Given the description of an element on the screen output the (x, y) to click on. 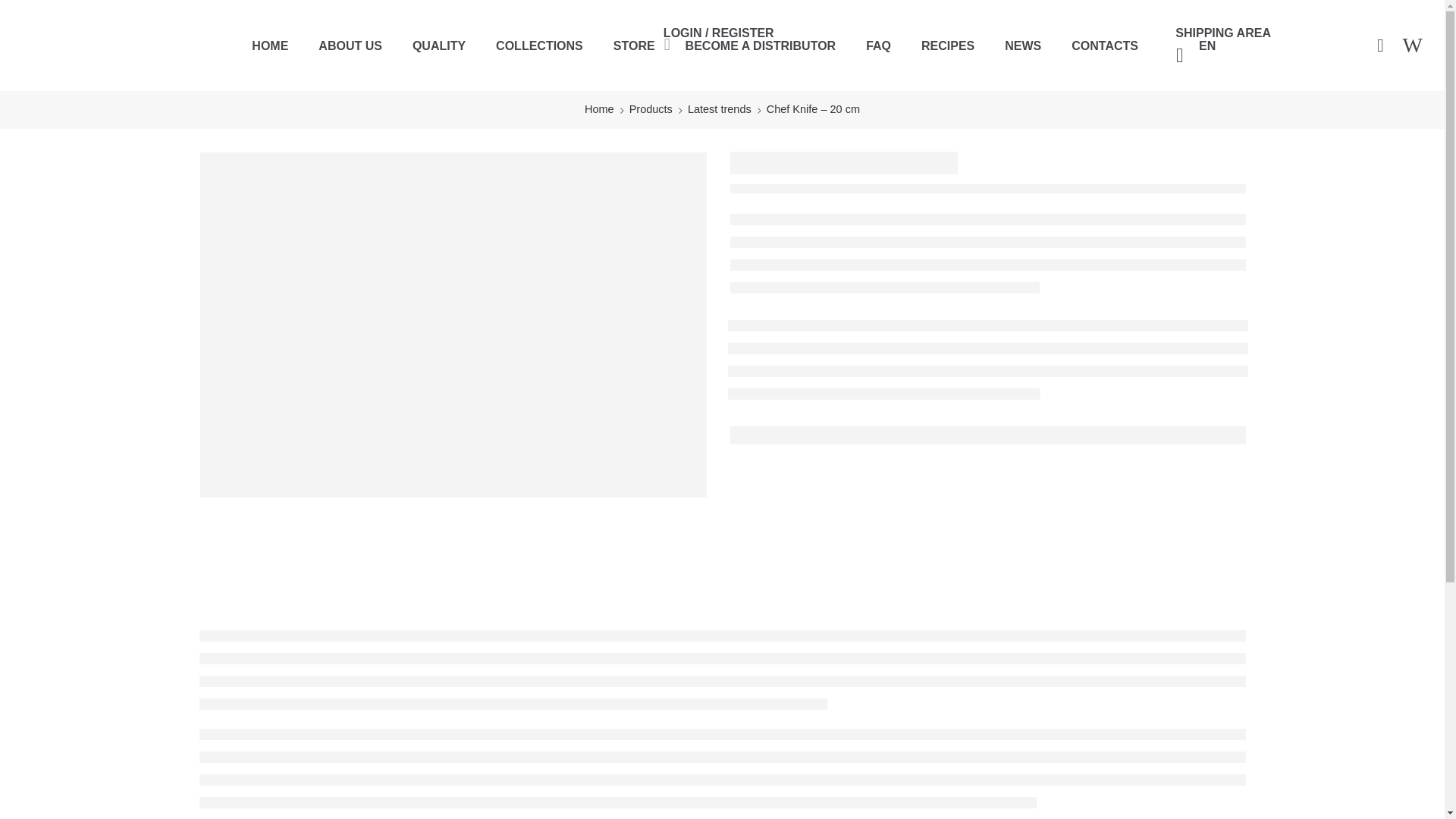
Risoli.com - Produzione pentole antiaderenti (59, 45)
Cart (1380, 45)
Quality (438, 45)
Collections (539, 45)
QUALITY (438, 45)
RECIPES (947, 45)
STORE (633, 45)
Store (633, 45)
CONTACTS (1104, 45)
SHIPPING AREA (1222, 33)
